Given the description of an element on the screen output the (x, y) to click on. 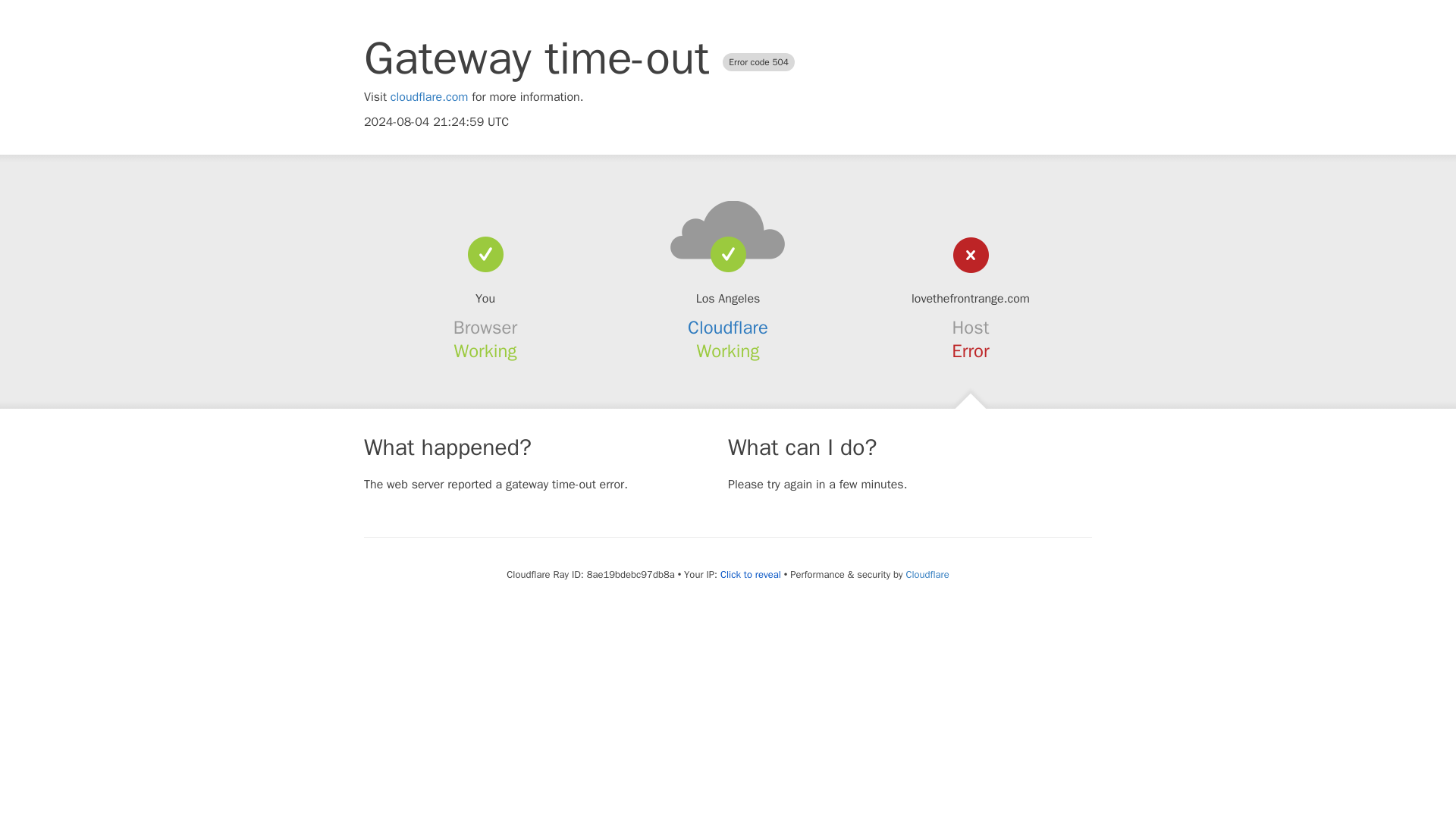
Click to reveal (750, 574)
Cloudflare (927, 574)
Cloudflare (727, 327)
cloudflare.com (429, 96)
